Given the description of an element on the screen output the (x, y) to click on. 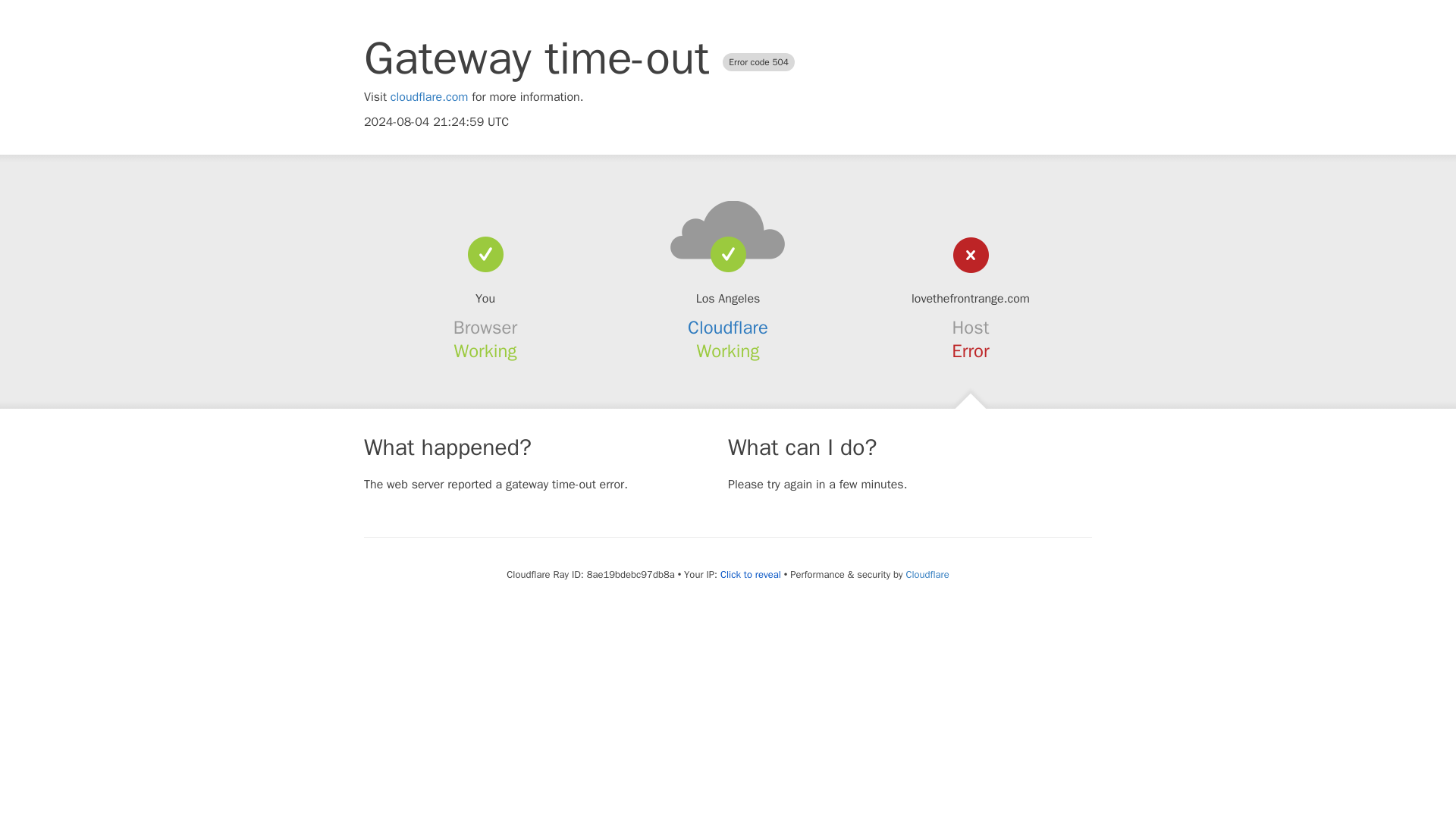
Click to reveal (750, 574)
Cloudflare (927, 574)
Cloudflare (727, 327)
cloudflare.com (429, 96)
